Given the description of an element on the screen output the (x, y) to click on. 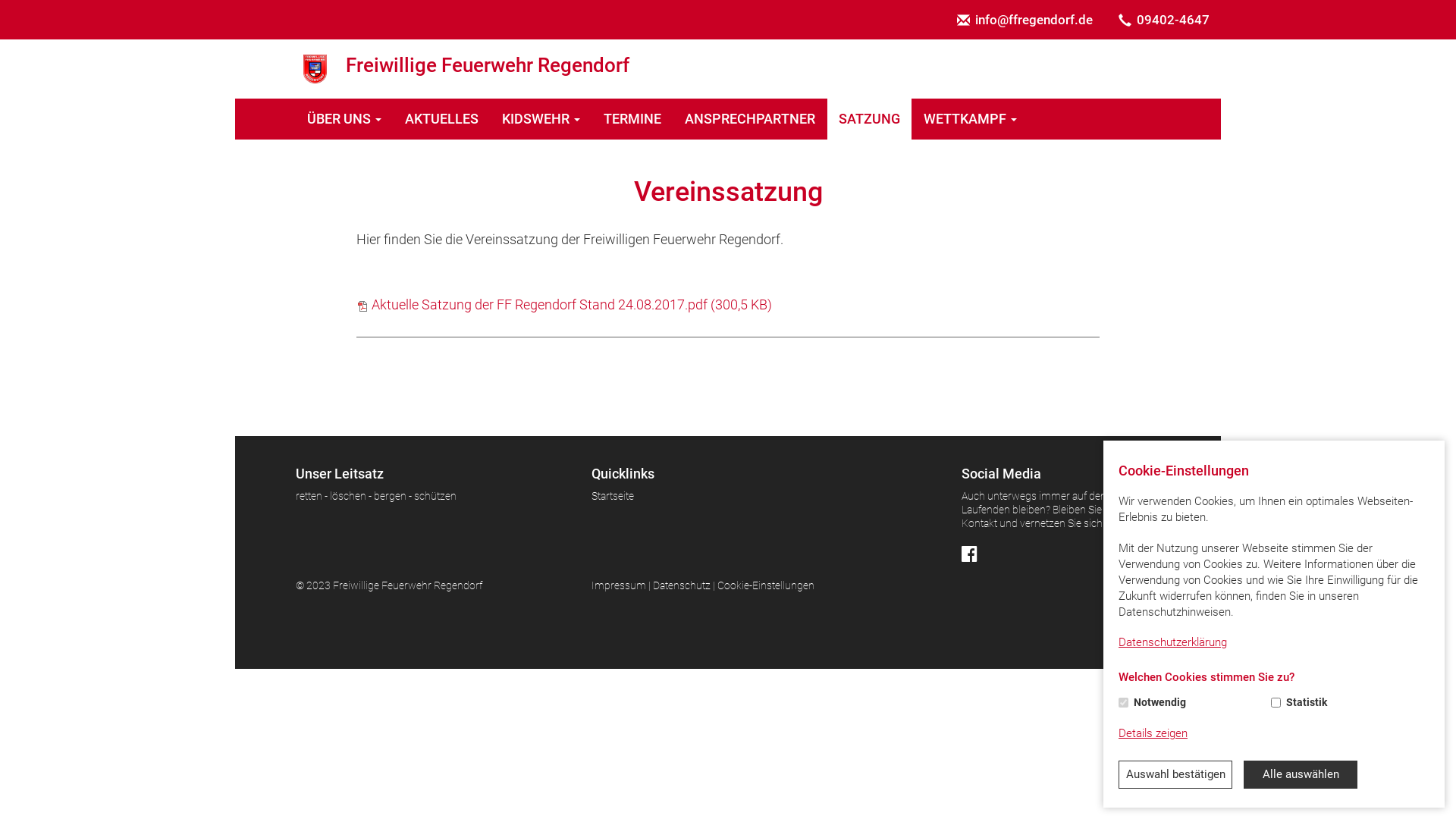
Details zeigen Element type: text (1152, 733)
SATZUNG Element type: text (869, 118)
ANSPRECHPARTNER Element type: text (750, 118)
KIDSWEHR Element type: text (541, 118)
Datenschutz Element type: text (681, 585)
Startseite Element type: text (612, 495)
info@ffregendorf.de Element type: text (1024, 19)
WETTKAMPF Element type: text (970, 118)
TERMINE Element type: text (632, 118)
Impressum Element type: text (618, 585)
09402-4647 Element type: text (1163, 19)
Cookie-Einstellungen Element type: text (765, 585)
Freiwillige Feuerwehr Regendorf Element type: text (727, 68)
Freiwillige Feuerwehr Regendorf Element type: hover (314, 68)
AKTUELLES Element type: text (441, 118)
